Given the description of an element on the screen output the (x, y) to click on. 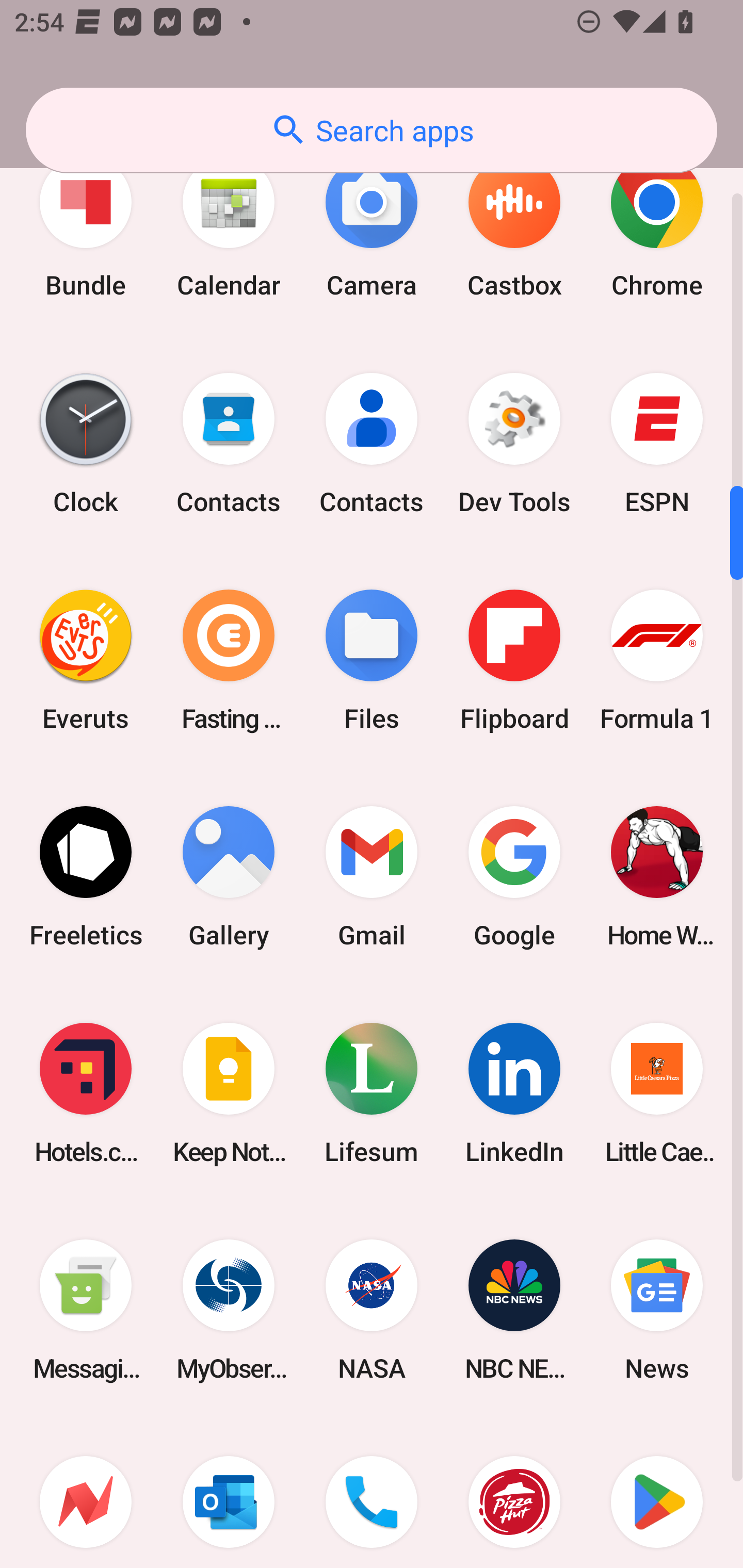
  Search apps (371, 130)
Bundle (85, 227)
Calendar (228, 227)
Camera (371, 227)
Castbox (514, 227)
Chrome (656, 227)
Clock (85, 443)
Contacts (228, 443)
Contacts (371, 443)
Dev Tools (514, 443)
ESPN (656, 443)
Everuts (85, 659)
Fasting Coach (228, 659)
Files (371, 659)
Flipboard (514, 659)
Formula 1 (656, 659)
Freeletics (85, 876)
Gallery (228, 876)
Gmail (371, 876)
Google (514, 876)
Home Workout (656, 876)
Hotels.com (85, 1092)
Keep Notes (228, 1092)
Lifesum (371, 1092)
LinkedIn (514, 1092)
Little Caesars Pizza (656, 1092)
Messaging (85, 1310)
MyObservatory (228, 1310)
NASA (371, 1310)
NBC NEWS (514, 1310)
News (656, 1310)
NewsBreak (85, 1493)
Outlook (228, 1493)
Phone (371, 1493)
Pizza Hut HK & Macau (514, 1493)
Play Store (656, 1493)
